Given the description of an element on the screen output the (x, y) to click on. 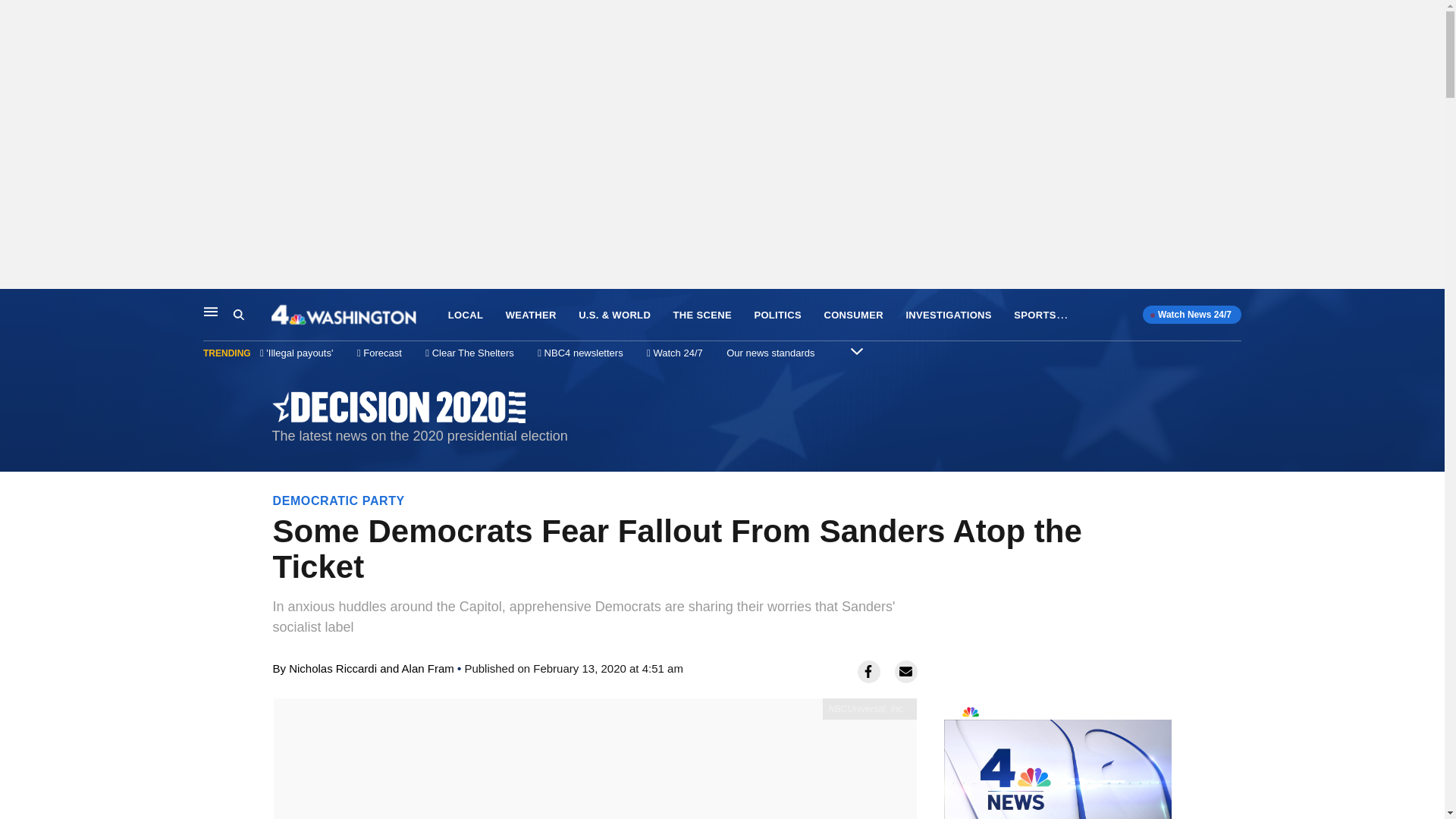
POLITICS (778, 315)
INVESTIGATIONS (948, 315)
Search (252, 314)
THE SCENE (702, 315)
Our news standards (1056, 758)
LOCAL (769, 352)
DEMOCRATIC PARTY (465, 315)
Main Navigation (338, 500)
Search (210, 311)
